Given the description of an element on the screen output the (x, y) to click on. 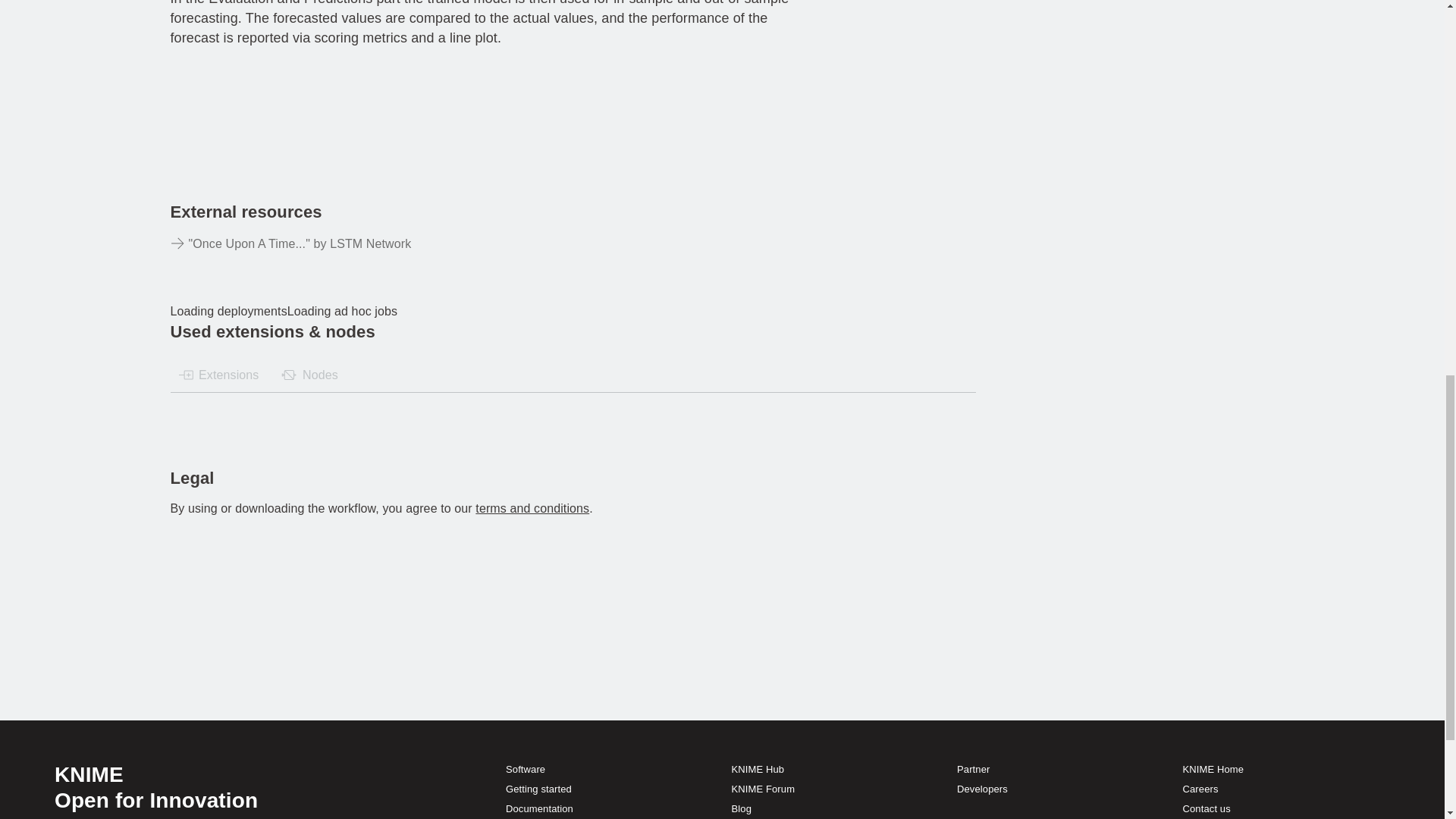
Partner (973, 768)
Documentation (539, 808)
Contact us (1206, 808)
Blog (741, 808)
Developers (981, 788)
Careers (1200, 788)
Software (524, 768)
KNIME Hub (758, 768)
terms and conditions (532, 508)
Getting started (538, 788)
KNIME Home (1213, 768)
KNIME Forum (763, 788)
"Once Upon A Time..." by LSTM Network (375, 243)
